Given the description of an element on the screen output the (x, y) to click on. 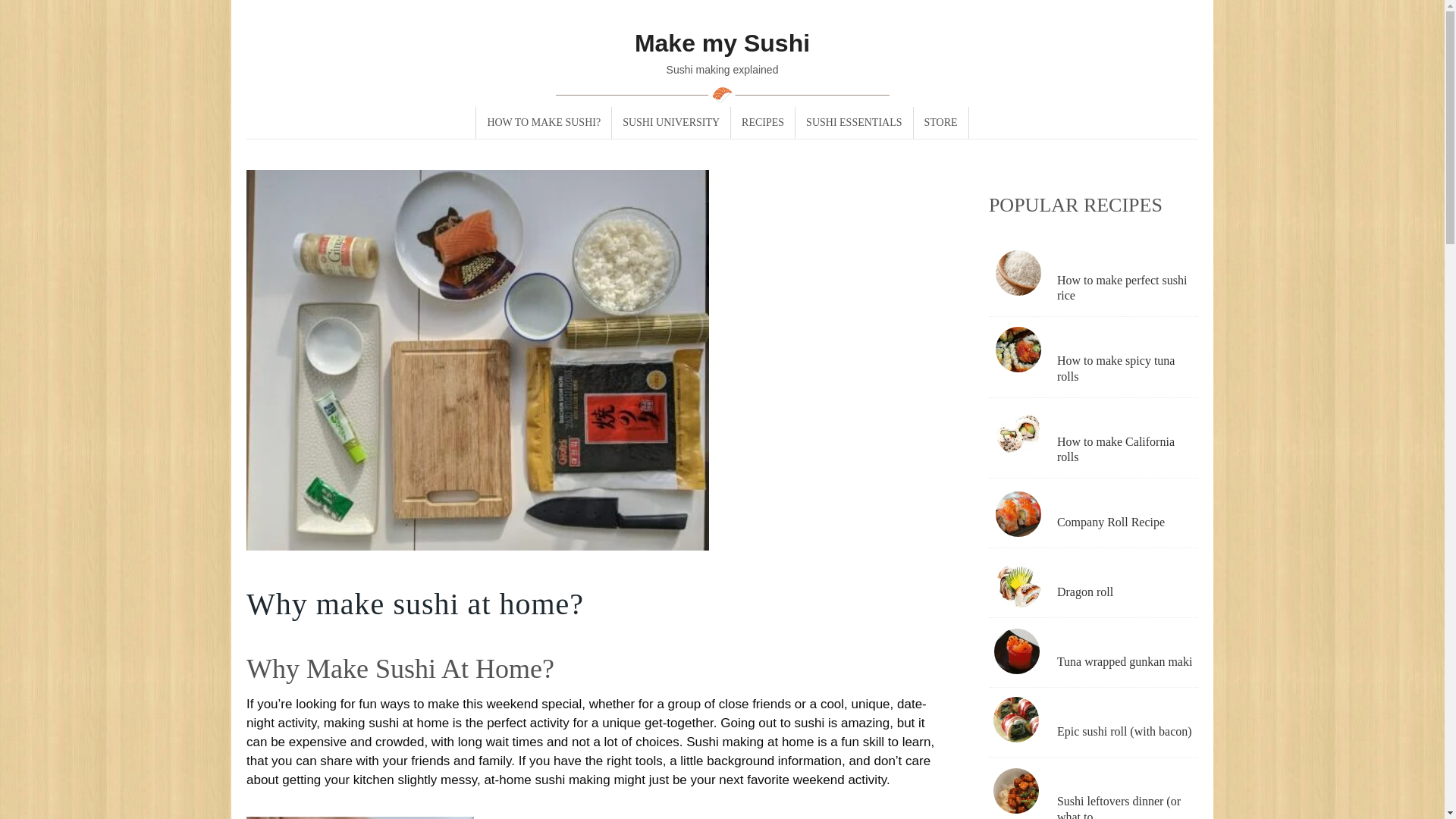
RECIPES (762, 122)
STORE (940, 122)
Make my Sushi (721, 42)
SUSHI ESSENTIALS (853, 122)
HOW TO MAKE SUSHI? (543, 122)
Why make sushi at home? (477, 540)
SUSHI UNIVERSITY (670, 122)
